Given the description of an element on the screen output the (x, y) to click on. 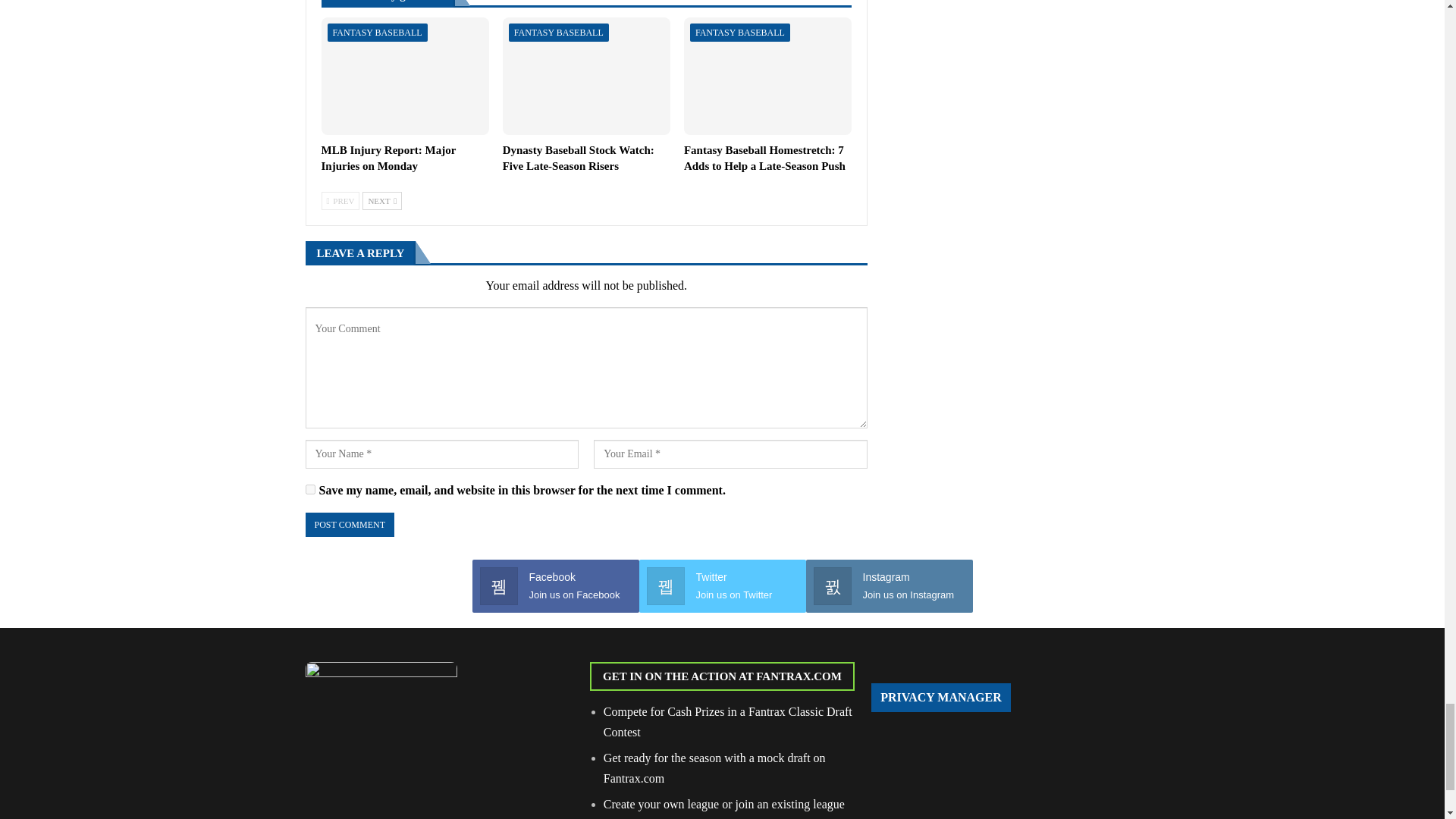
Dynasty Baseball Stock Watch: Five Late-Season Risers (577, 157)
yes (309, 489)
MLB Injury Report:  Major Injuries on Monday (405, 76)
Dynasty Baseball Stock Watch: Five Late-Season Risers (585, 76)
MLB Injury Report:  Major Injuries on Monday (389, 157)
Post Comment (348, 524)
